Given the description of an element on the screen output the (x, y) to click on. 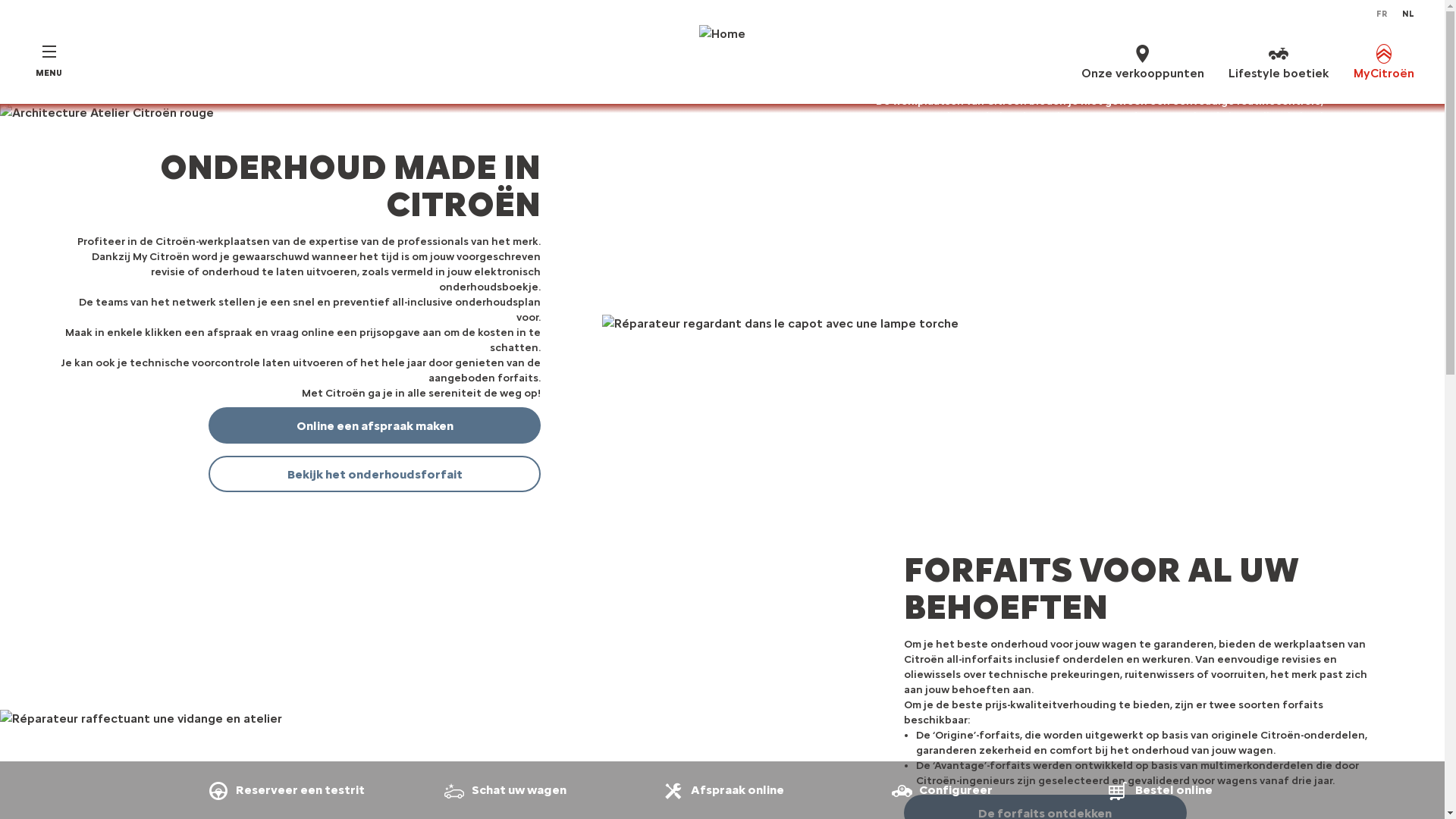
Home Element type: hover (722, 61)
MENU Element type: text (48, 61)
Onze verkooppunten Element type: text (1142, 60)
Bestel online Element type: text (1159, 789)
Online een afspraak maken Element type: text (374, 425)
NL Element type: text (1408, 13)
Lifestyle boetiek Element type: text (1278, 60)
Schat uw wagen Element type: text (503, 789)
Reserveer een testrit Element type: text (285, 789)
Bekijk het onderhoudsforfait Element type: text (374, 473)
Afspraak online Element type: text (722, 789)
Configureer Element type: text (940, 789)
FR Element type: text (1381, 13)
